Given the description of an element on the screen output the (x, y) to click on. 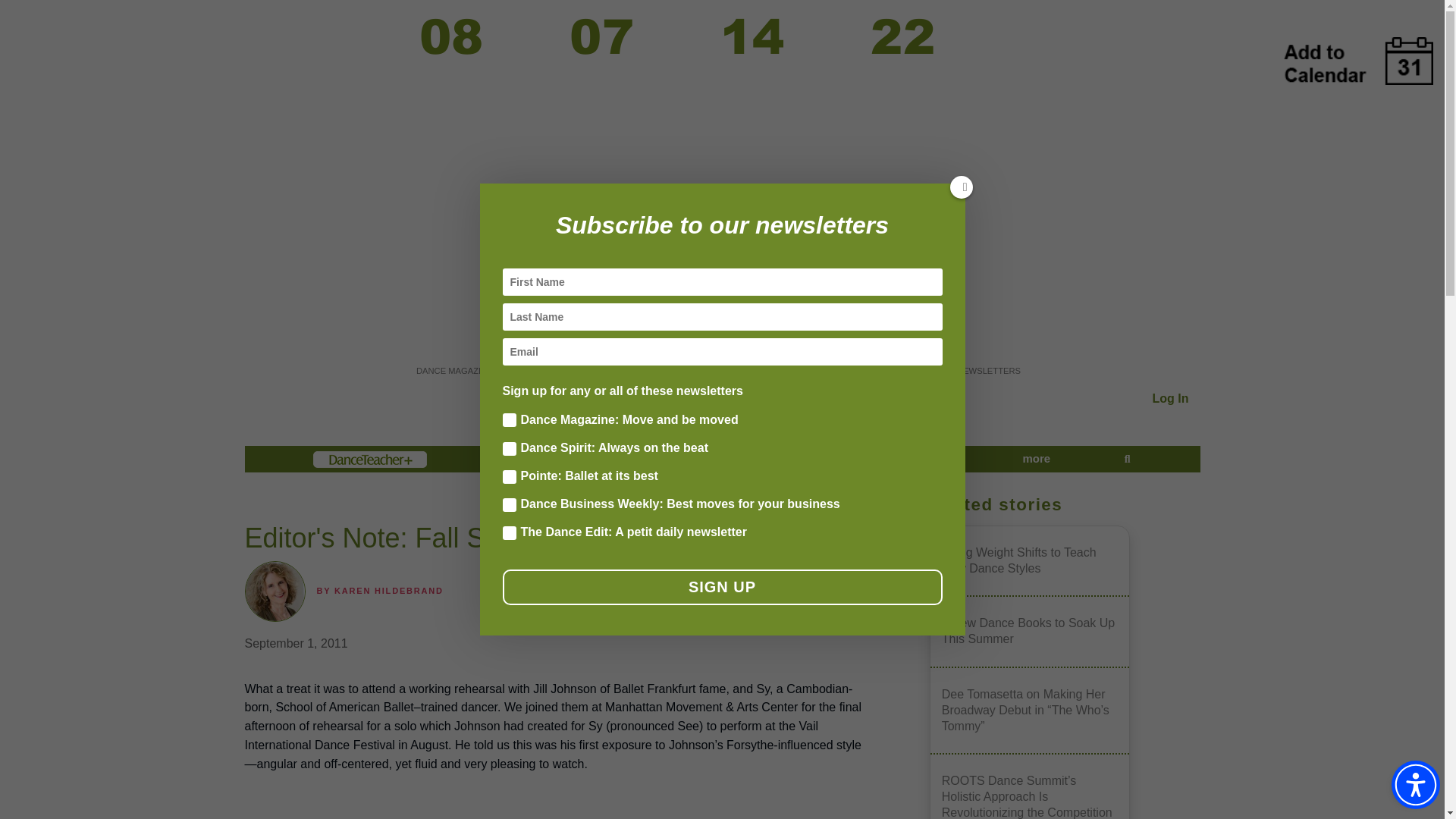
Members (369, 458)
Share on LinkedIn (764, 507)
Log In (1171, 398)
Share on Pinterest (720, 507)
NEWSLETTERS (988, 370)
Share by Email (809, 507)
Share on Facebook (633, 507)
teacher stories (908, 458)
COLLEGE GUIDE (904, 370)
Using Weight Shifts to Teach New Dance Styles (1029, 561)
EVENTS CALENDAR (811, 370)
Accessibility Menu (1415, 784)
teaching tips (656, 458)
DANCE MAGAZINE (454, 370)
